Given the description of an element on the screen output the (x, y) to click on. 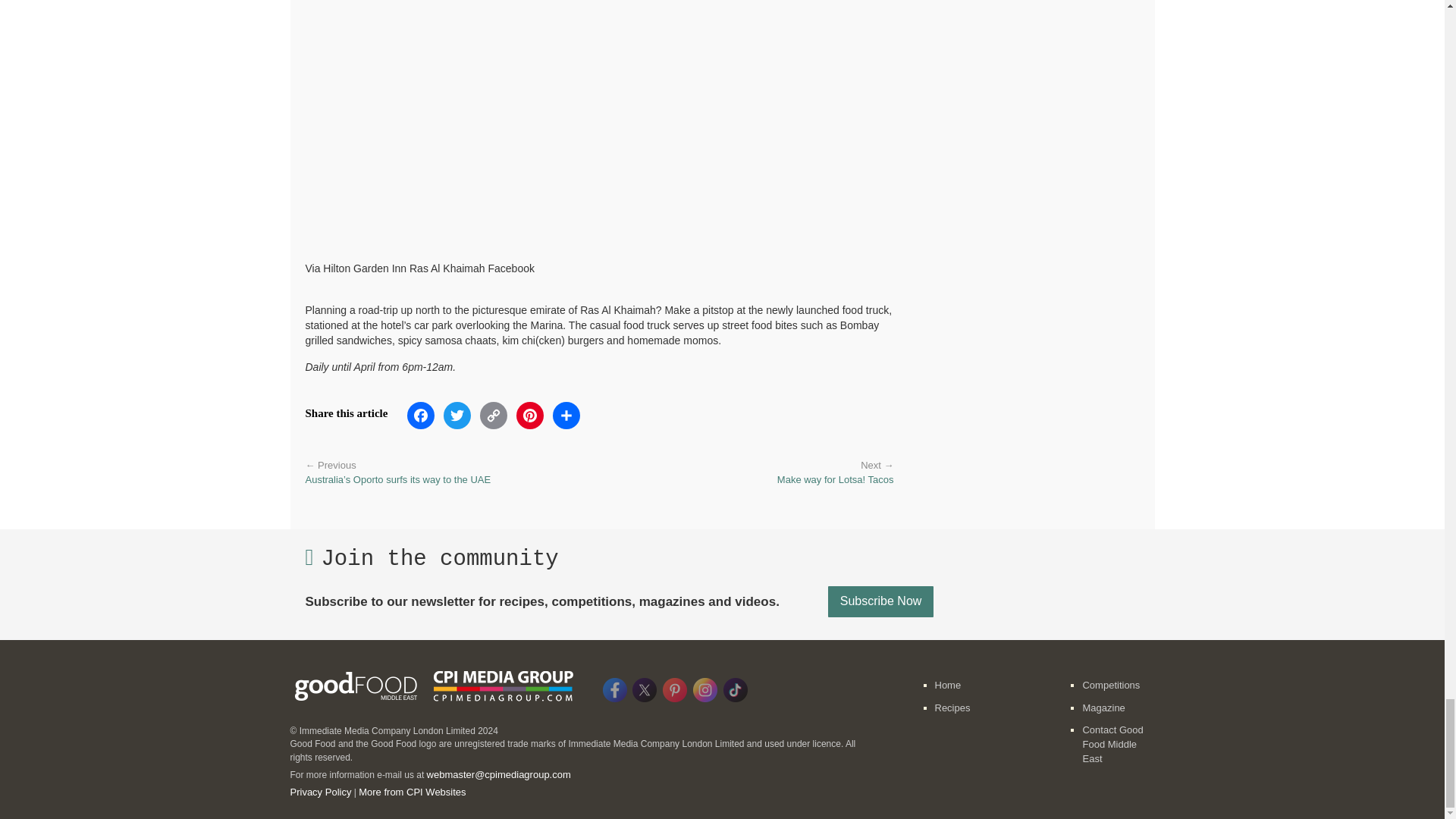
Facebook (421, 420)
Copy Link (494, 420)
Twitter (457, 420)
Pinterest (530, 420)
